Given the description of an element on the screen output the (x, y) to click on. 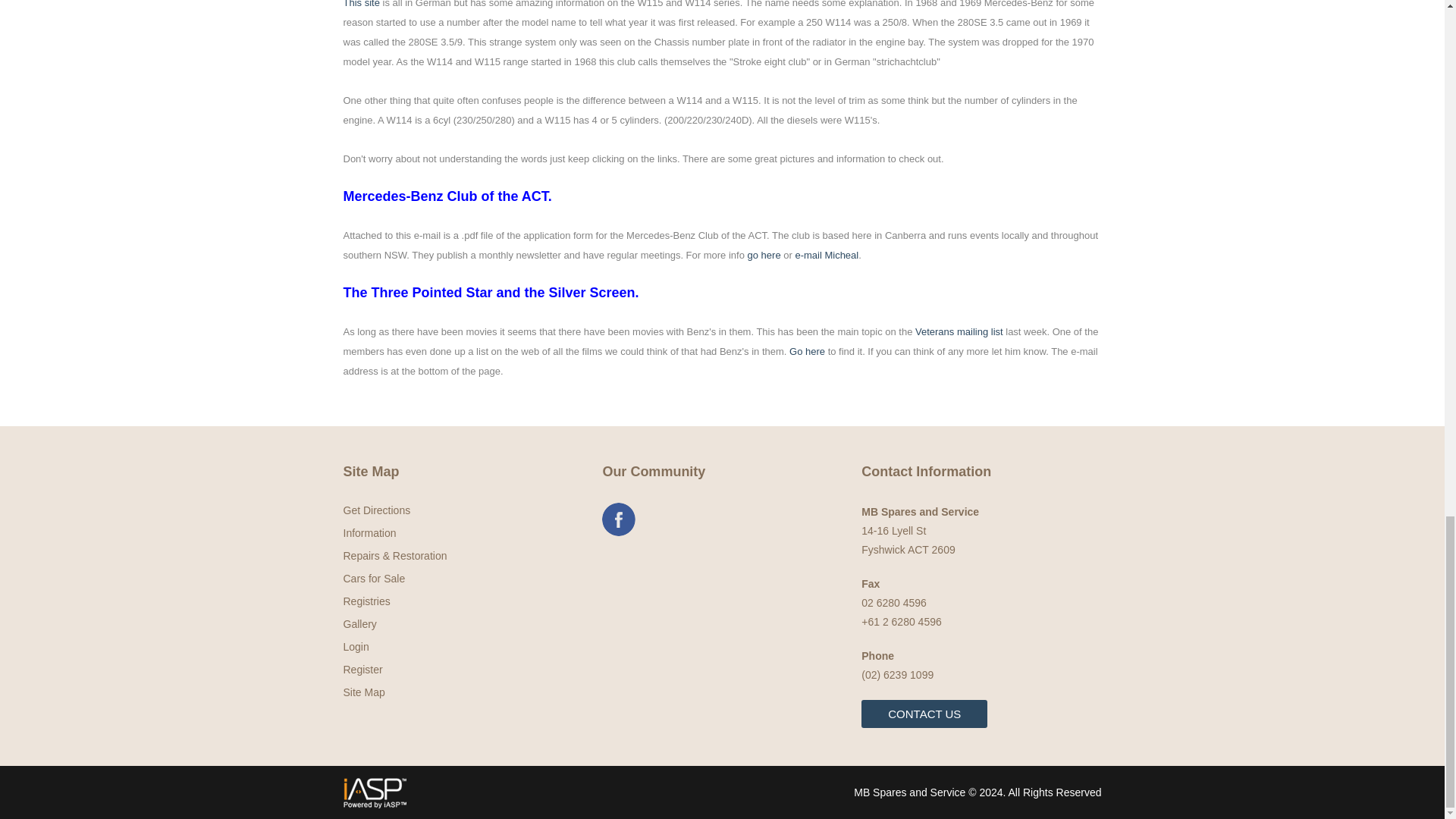
Contact Us (924, 714)
Follow Us On Facebook (618, 519)
